Given the description of an element on the screen output the (x, y) to click on. 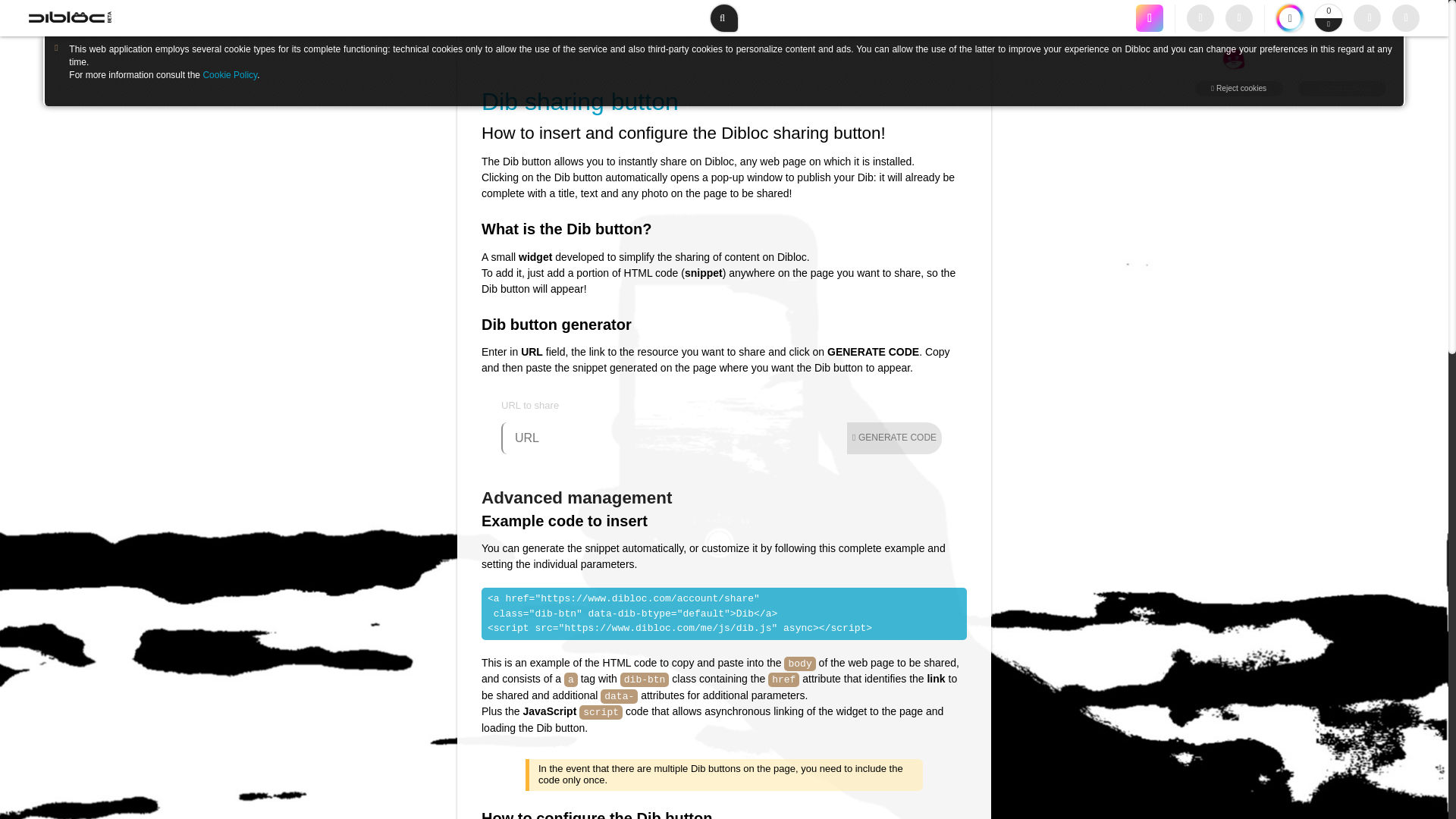
Reject cookies (1238, 88)
Search (724, 17)
Cookie Policy (229, 74)
Accept cookies (1342, 88)
dibTIME recharge (1289, 17)
GENERATE CODE (894, 438)
